Given the description of an element on the screen output the (x, y) to click on. 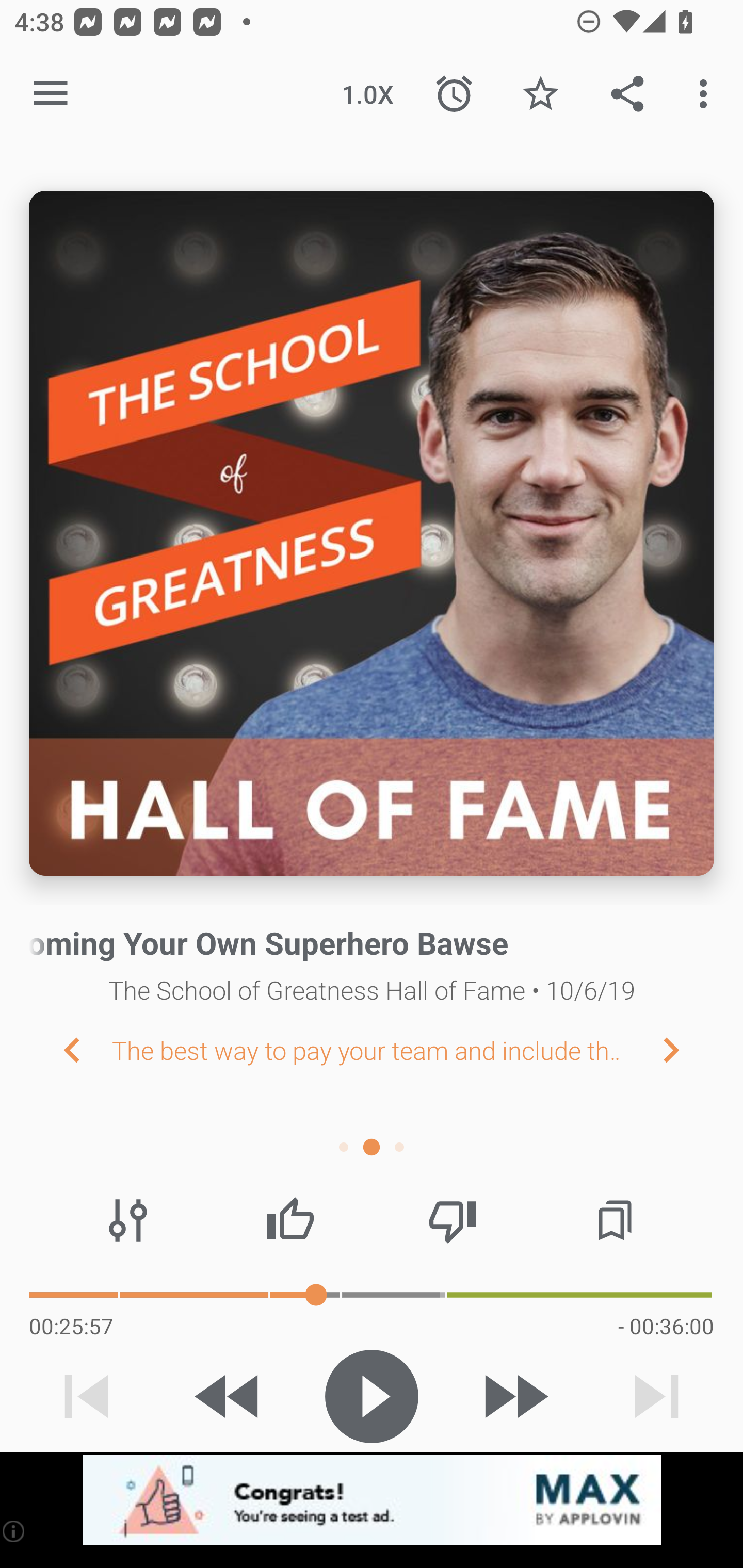
Open navigation sidebar (50, 93)
1.0X (366, 93)
Sleep Timer (453, 93)
Favorite (540, 93)
Share (626, 93)
More options (706, 93)
Episode description (371, 533)
Previous Chapter (56, 1049)
Next Chapter (686, 1049)
Audio effects (127, 1220)
Thumbs up (290, 1220)
Thumbs down (452, 1220)
Chapters / Bookmarks (614, 1220)
- 00:36:00 (666, 1325)
Previous track (86, 1395)
Skip 15s backward (228, 1395)
Play / Pause (371, 1395)
Skip 30s forward (513, 1395)
Next track (656, 1395)
app-monetization (371, 1500)
(i) (14, 1531)
